Given the description of an element on the screen output the (x, y) to click on. 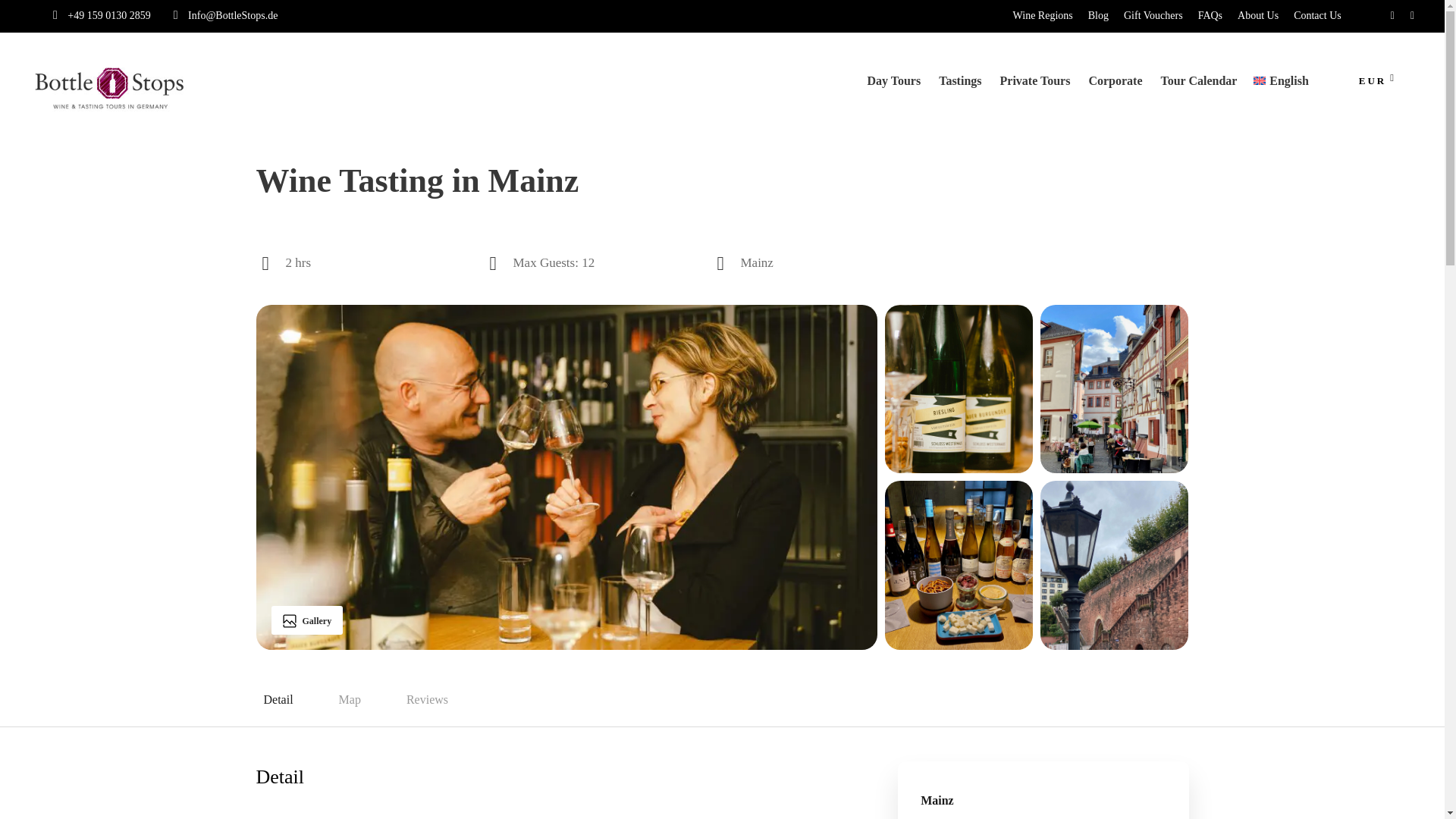
Private Tours (1034, 88)
BottleStops (110, 89)
FAQs (1210, 15)
Tour Calendar (1198, 88)
Wine Regions (1043, 15)
Gift Vouchers (1153, 15)
Tastings (960, 88)
English (1280, 88)
Contact Us (1317, 15)
English (1280, 88)
